Given the description of an element on the screen output the (x, y) to click on. 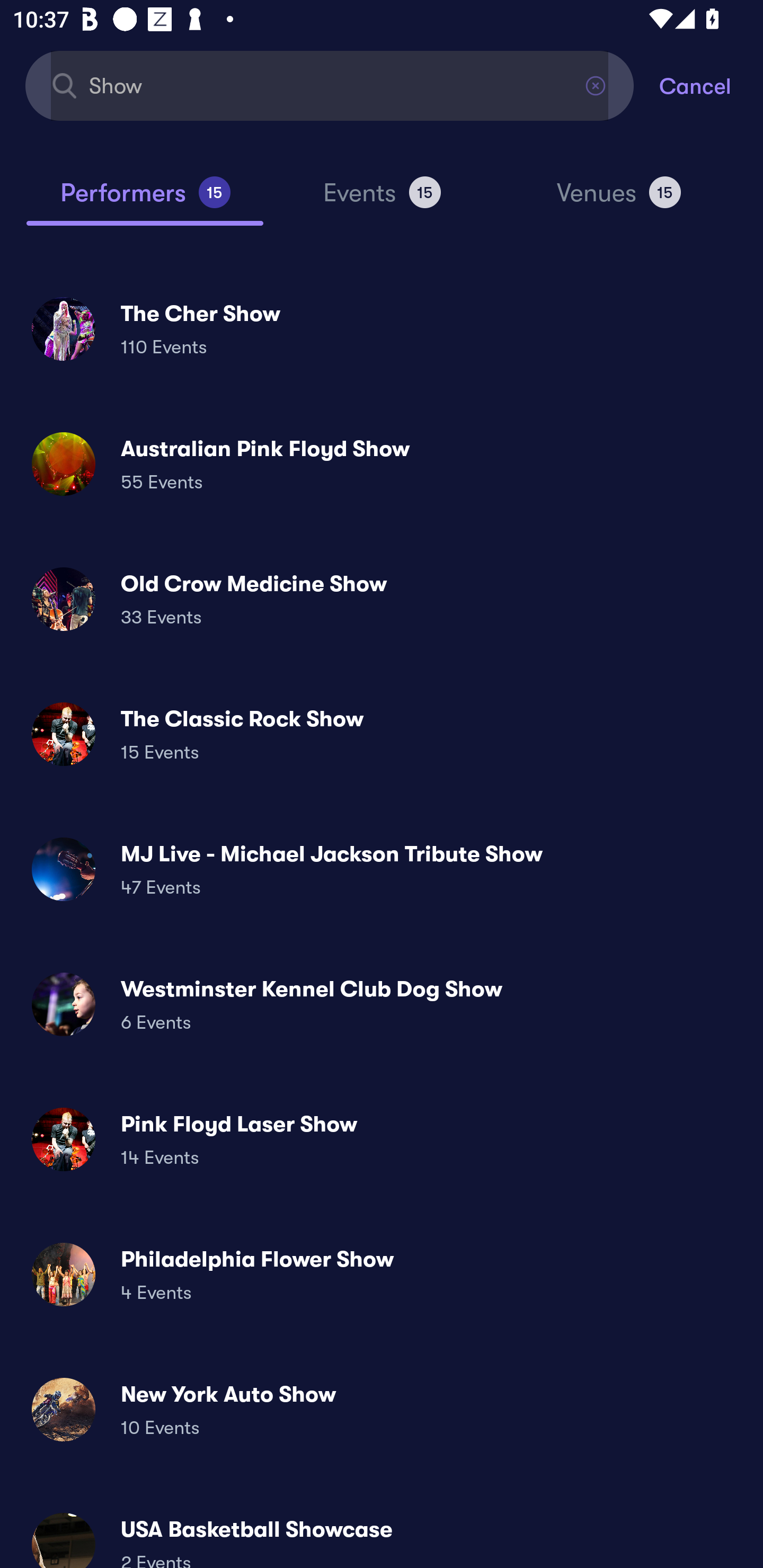
Show Find (329, 85)
Show Find (329, 85)
Cancel (711, 85)
Performers 15 (144, 200)
Events 15 (381, 200)
Venues 15 (618, 200)
The Cher Show 110 Events (381, 328)
Australian Pink Floyd Show 55 Events (381, 464)
Old Crow Medicine Show 33 Events (381, 598)
The Classic Rock Show 15 Events (381, 734)
MJ Live - Michael Jackson Tribute Show 47 Events (381, 869)
Westminster Kennel Club Dog Show 6 Events (381, 1004)
Pink Floyd Laser Show 14 Events (381, 1138)
Philadelphia Flower Show 4 Events (381, 1273)
New York Auto Show 10 Events (381, 1409)
USA Basketball Showcase 2 Events (381, 1532)
